Given the description of an element on the screen output the (x, y) to click on. 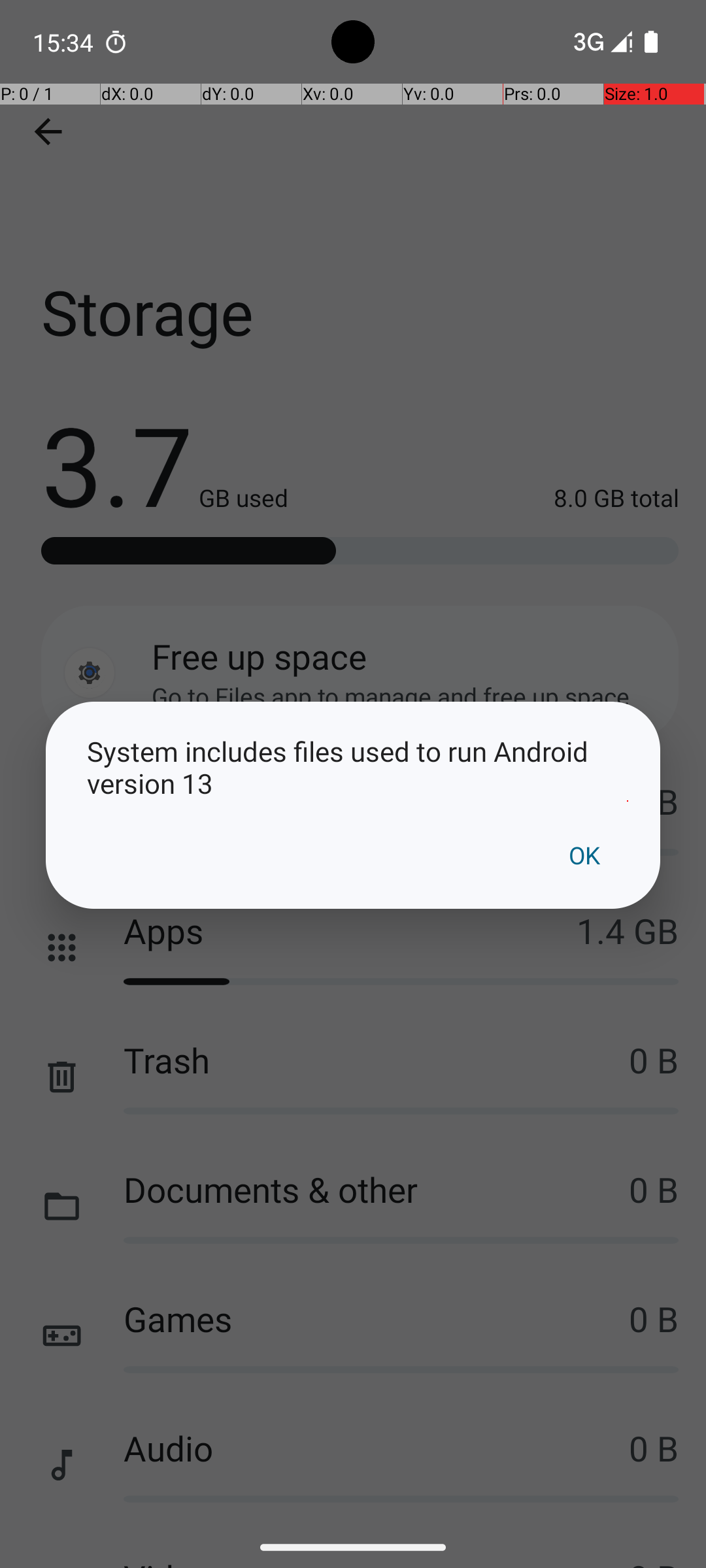
System includes files used to run Android version 13 Element type: android.widget.TextView (352, 766)
